Given the description of an element on the screen output the (x, y) to click on. 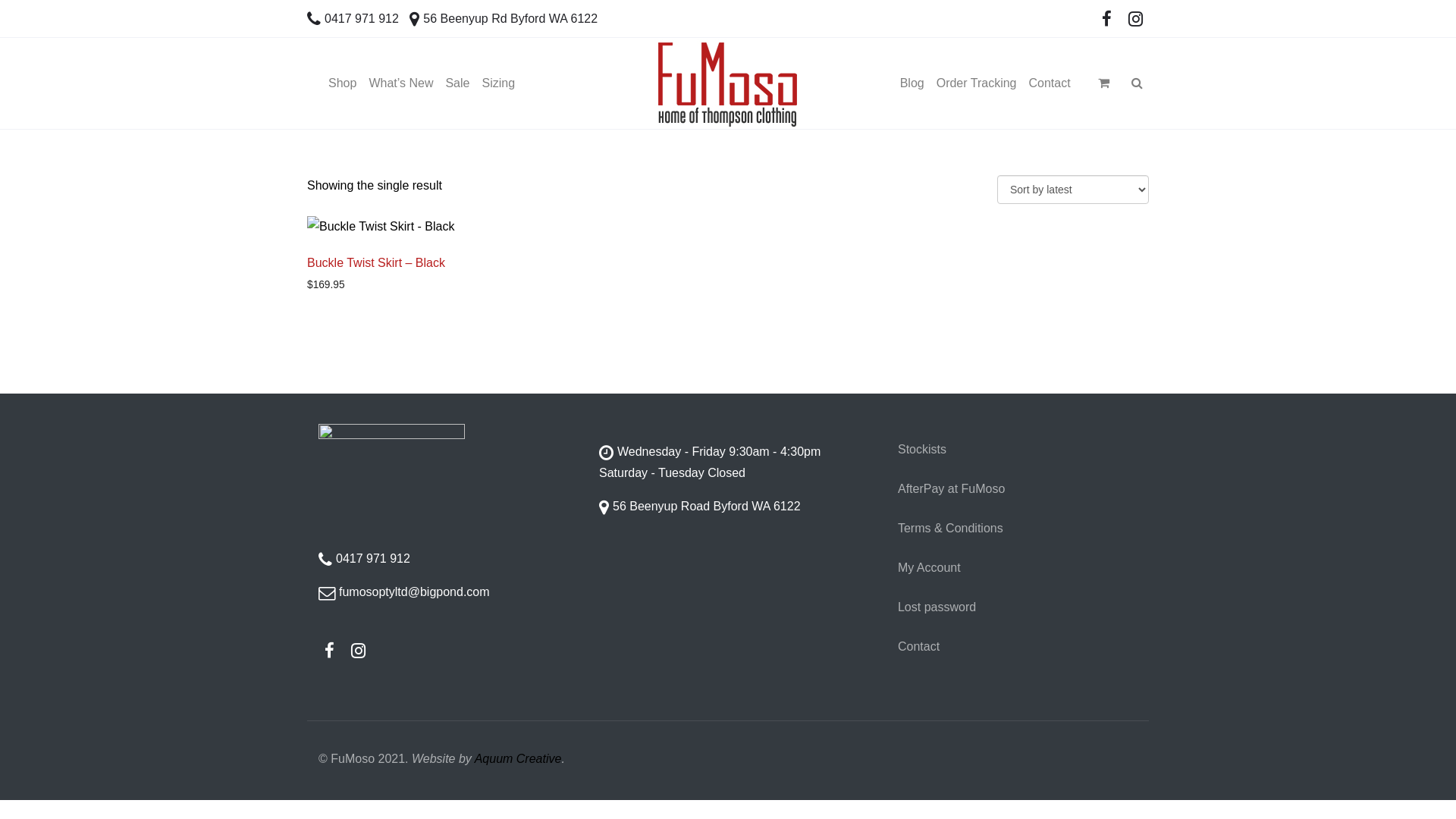
Shop Element type: text (342, 82)
FuMoso Element type: hover (727, 82)
Instagram Element type: hover (1134, 19)
Facebook Element type: hover (329, 650)
Sale Element type: text (457, 82)
Contact Element type: text (950, 646)
Facebook Element type: hover (1106, 19)
Stockists Element type: text (950, 449)
Sizing Element type: text (497, 82)
My Account Element type: text (950, 567)
Instagram Element type: hover (357, 650)
Contact Element type: text (1049, 82)
Lost password Element type: text (950, 607)
AfterPay at FuMoso Element type: text (950, 488)
Order Tracking Element type: text (976, 82)
Blog Element type: text (912, 82)
Aquum Creative Element type: text (517, 758)
Terms & Conditions Element type: text (950, 528)
